Given the description of an element on the screen output the (x, y) to click on. 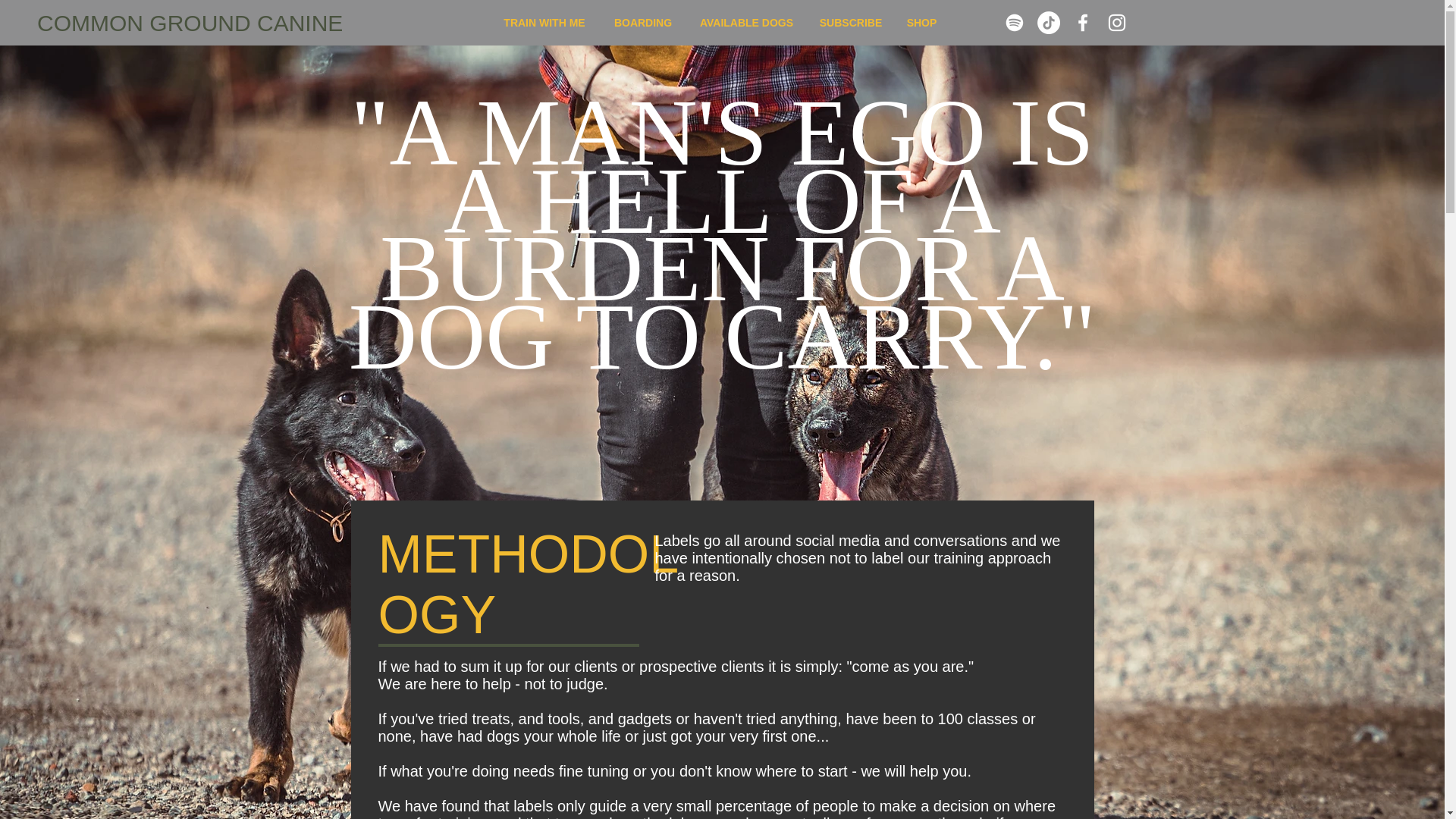
SUBSCRIBE (849, 22)
AVAILABLE DOGS (745, 22)
BOARDING (642, 22)
COMMON GROUND CANINE (189, 23)
